Given the description of an element on the screen output the (x, y) to click on. 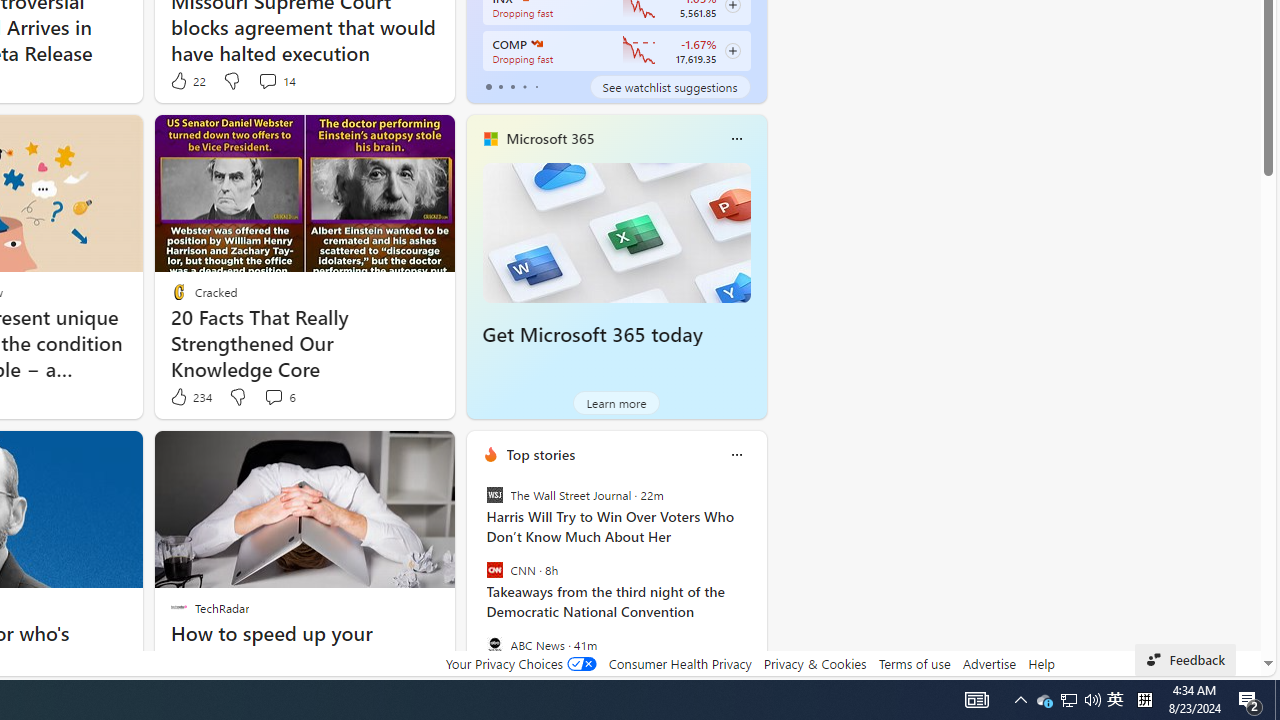
The Wall Street Journal (494, 494)
234 Like (190, 397)
Get Microsoft 365 today (592, 335)
CNN (494, 570)
Privacy & Cookies (814, 663)
tab-3 (524, 86)
Your Privacy Choices (520, 663)
View comments 6 Comment (273, 396)
tab-2 (511, 86)
NASDAQ (535, 43)
